Given the description of an element on the screen output the (x, y) to click on. 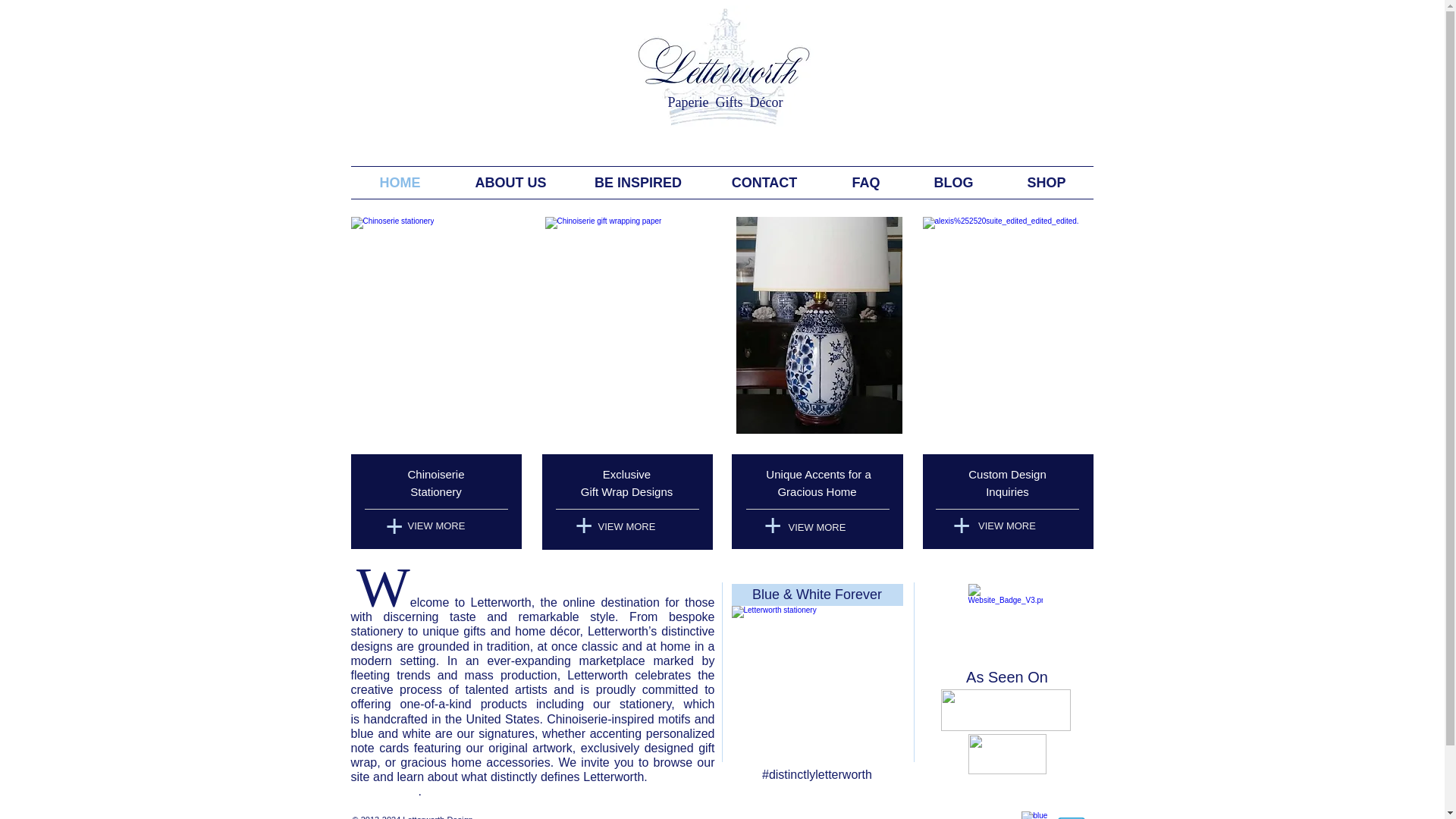
VIEW MORE (815, 527)
HOME (399, 183)
VIEW MORE (626, 526)
SHOP (1045, 183)
BLOG (952, 183)
VIEW MORE (435, 526)
ABOUT US (510, 183)
CONTACT (763, 183)
FAQ (866, 183)
VIEW MORE (1006, 526)
BE INSPIRED (637, 183)
